Given the description of an element on the screen output the (x, y) to click on. 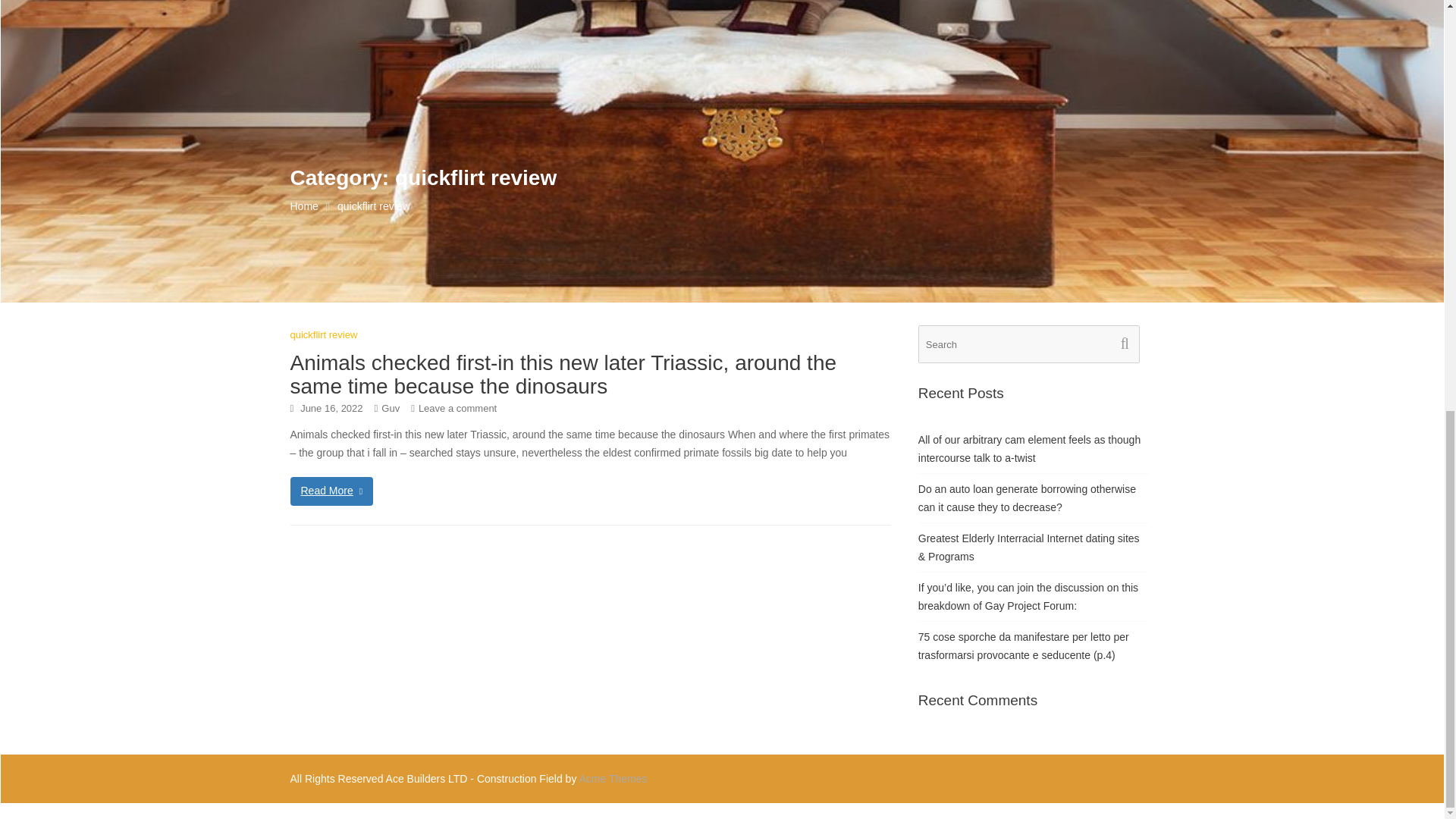
Guv (389, 408)
Acme Themes (613, 778)
Read More (330, 491)
June 16, 2022 (330, 408)
Leave a comment (457, 408)
Home (303, 206)
quickflirt review (322, 334)
